Given the description of an element on the screen output the (x, y) to click on. 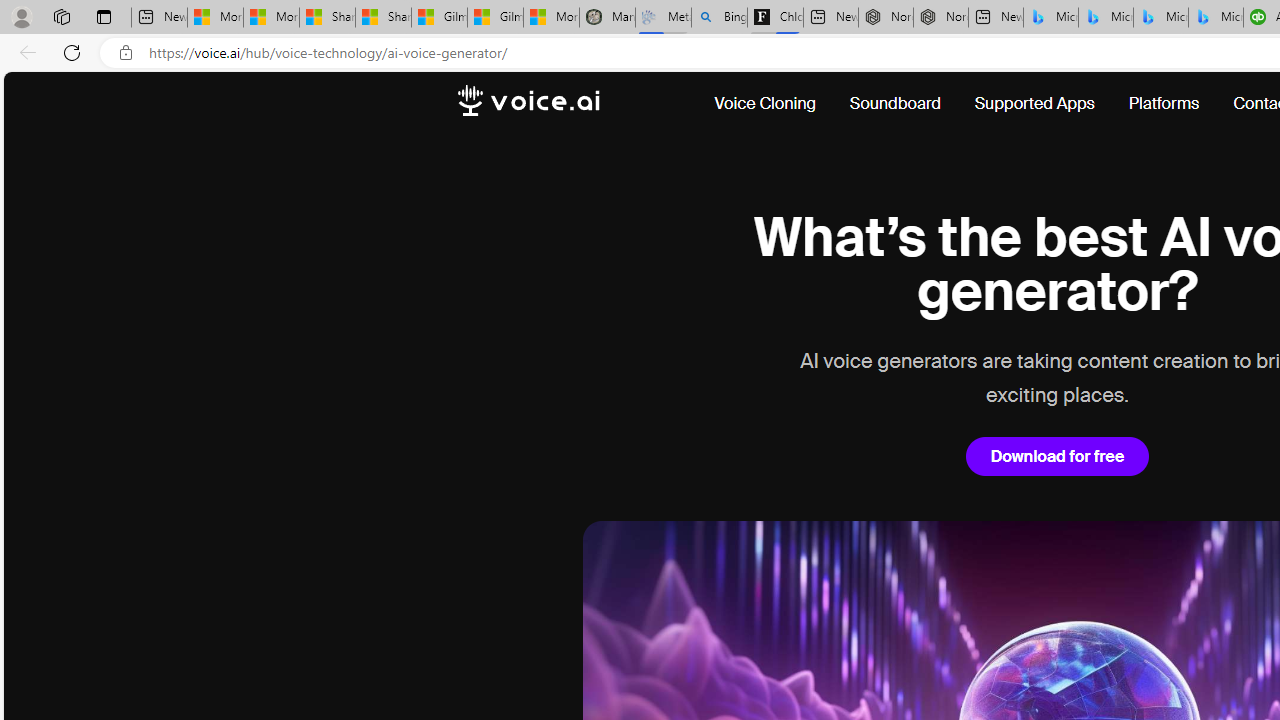
Manatee Mortality Statistics | FWC (606, 17)
Platforms (1163, 103)
Voice Cloning (765, 103)
Voice Cloning (773, 103)
Shanghai, China weather forecast | Microsoft Weather (382, 17)
Soundboard (894, 103)
Supported Apps (1034, 103)
